Given the description of an element on the screen output the (x, y) to click on. 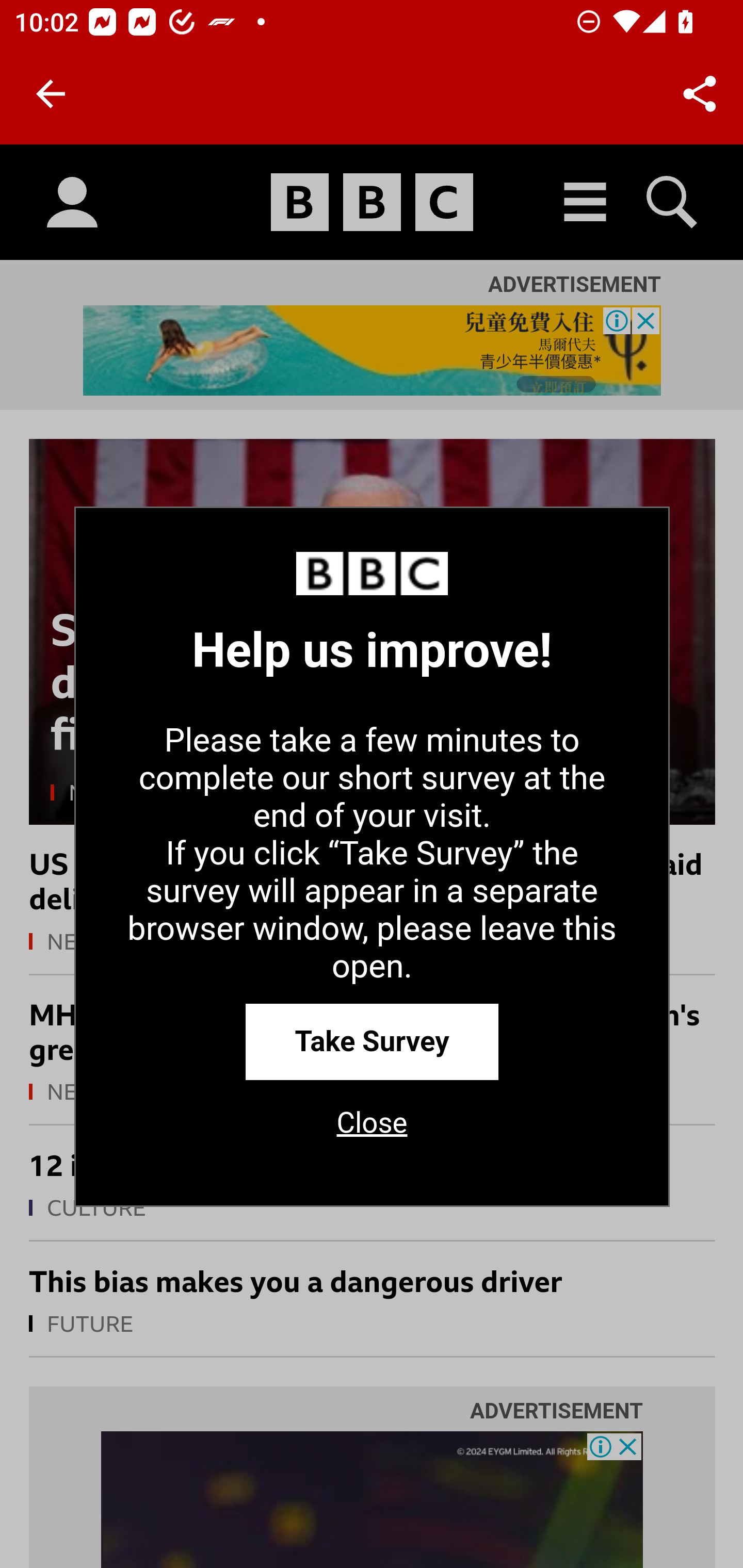
Back (50, 93)
Share (699, 93)
All BBC destinations menu (585, 202)
Search BBC (672, 202)
Sign in (71, 203)
Homepage (371, 203)
Take Survey (371, 1040)
Close (371, 1129)
